Given the description of an element on the screen output the (x, y) to click on. 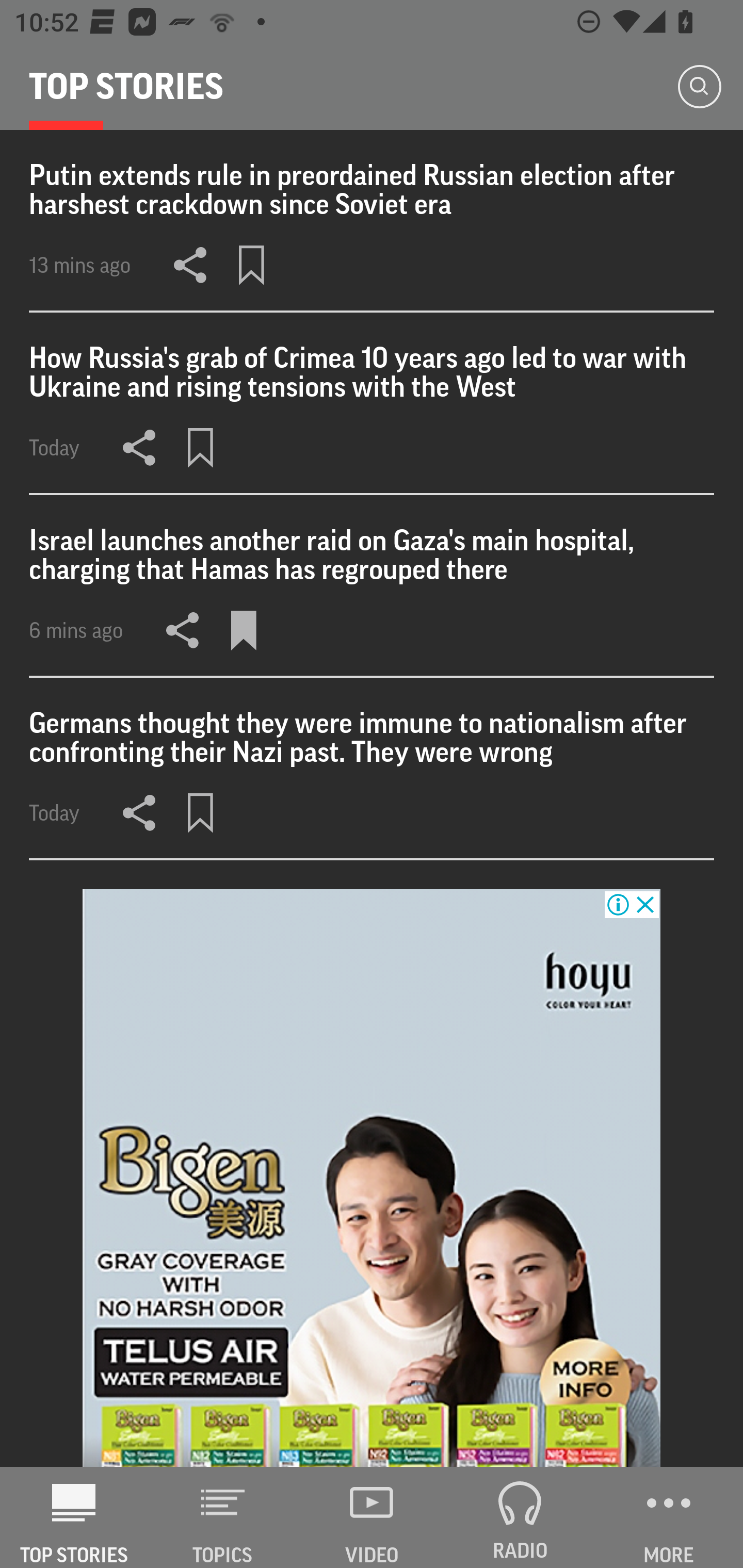
8 (371, 1178)
AP News TOP STORIES (74, 1517)
TOPICS (222, 1517)
VIDEO (371, 1517)
RADIO (519, 1517)
MORE (668, 1517)
